Given the description of an element on the screen output the (x, y) to click on. 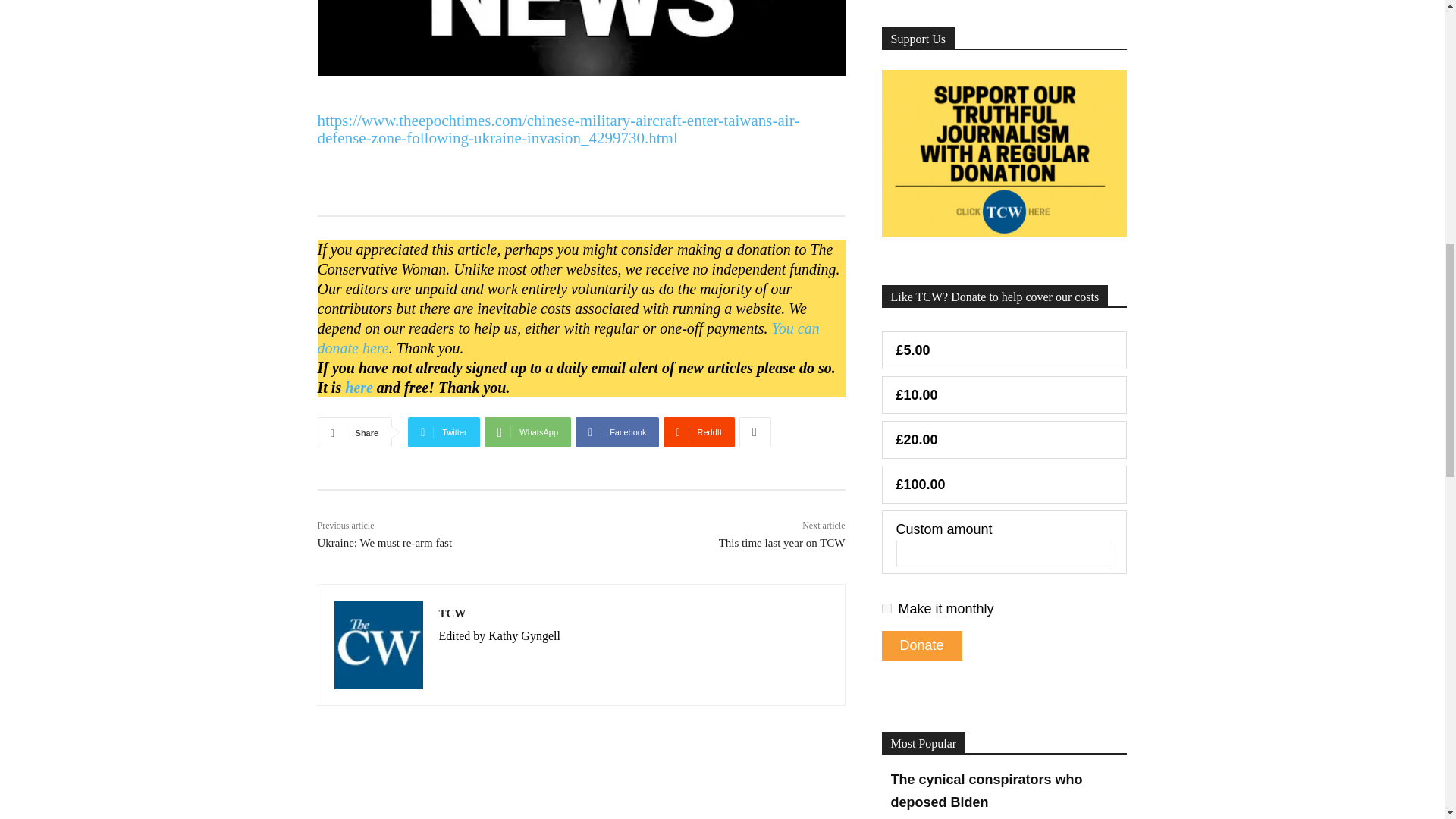
month (885, 608)
